Given the description of an element on the screen output the (x, y) to click on. 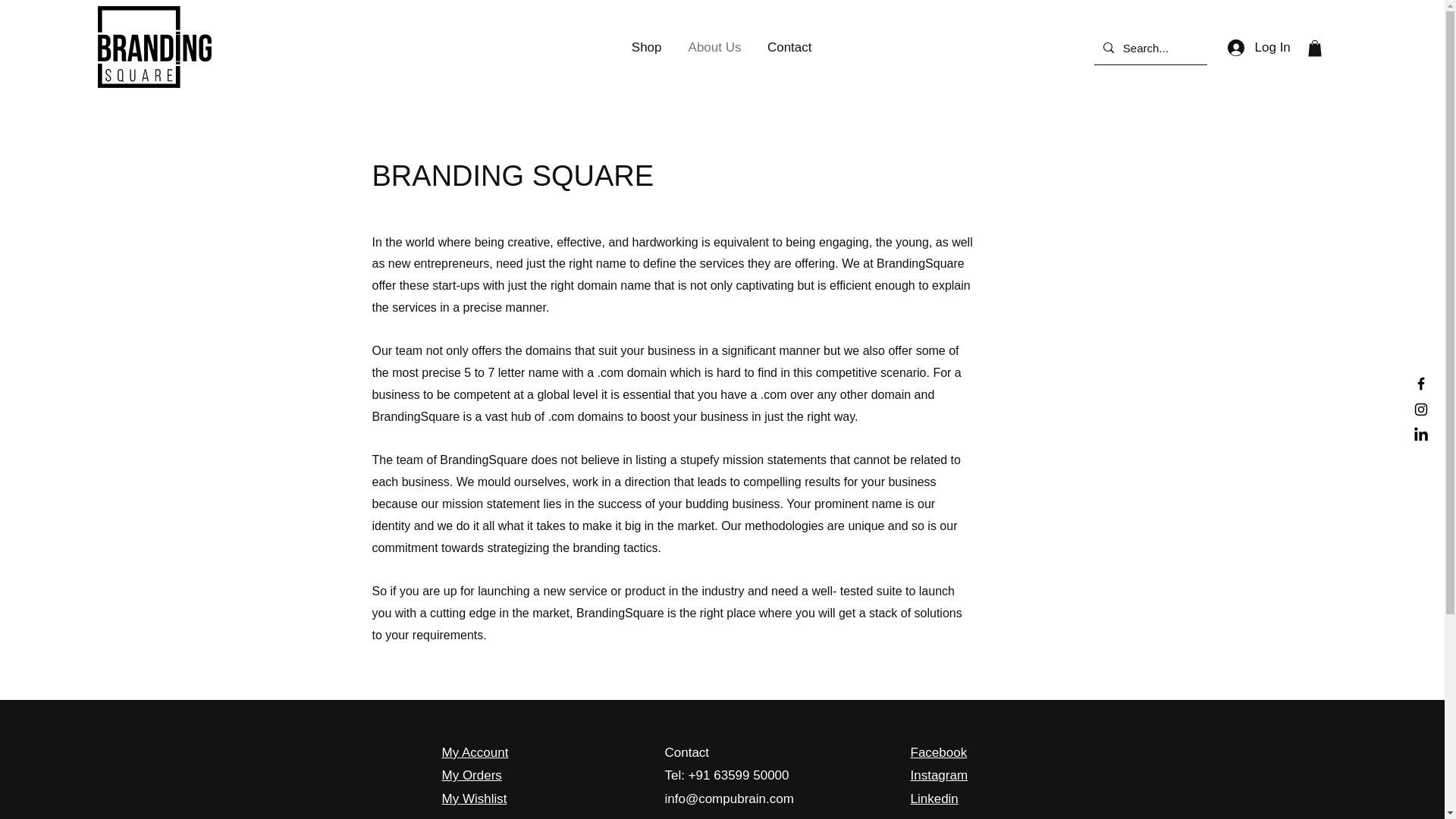
Contact (686, 752)
Contact (787, 47)
My Wishlist (473, 798)
My Account (474, 752)
Shop (645, 47)
My Orders (470, 775)
Branding Square (154, 46)
Instagram (939, 775)
Linkedin (934, 798)
Facebook (938, 752)
